Given the description of an element on the screen output the (x, y) to click on. 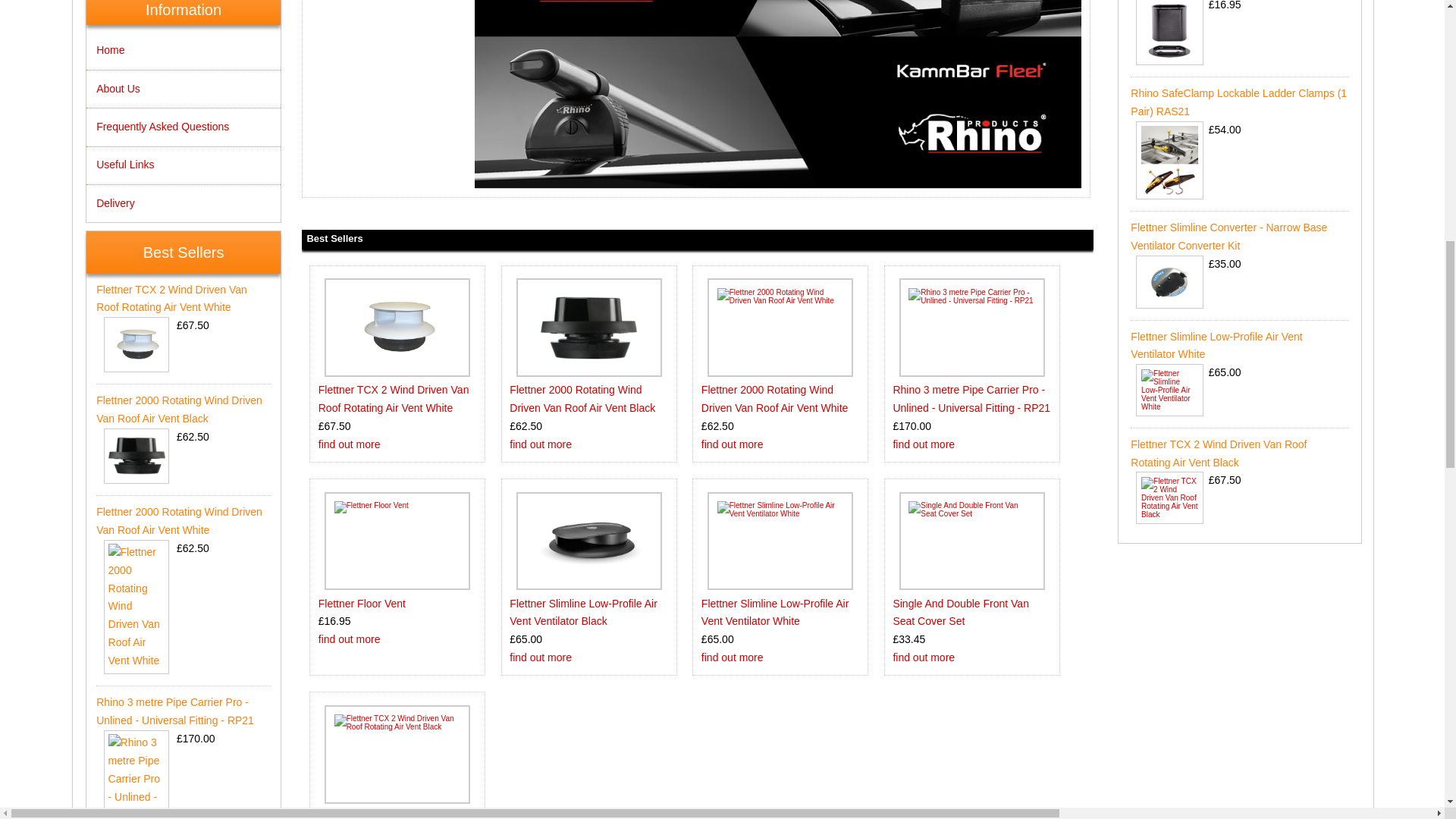
find out more (731, 444)
Flettner TCX 2 Wind Driven Van Roof Rotating Air Vent White (393, 399)
Flettner Floor Vent (397, 540)
Flettner Slimline Low-Profile Air Vent Ventilator Black (588, 540)
Flettner 2000 Rotating Wind Driven Van Roof Air Vent White (780, 327)
Flettner 2000 Rotating Wind Driven Van Roof Air Vent White (774, 399)
Rhino KammBar Pro and Fleet Van Roof Bars (777, 94)
Flettner TCX 2 Wind Driven Van Roof Rotating Air Vent Black (397, 753)
Flettner Slimline Low-Profile Air Vent Ventilator White (780, 540)
find out more (349, 444)
find out more (349, 639)
Flettner 2000 Rotating Wind Driven Van Roof Air Vent Black (588, 327)
find out more (923, 444)
